Given the description of an element on the screen output the (x, y) to click on. 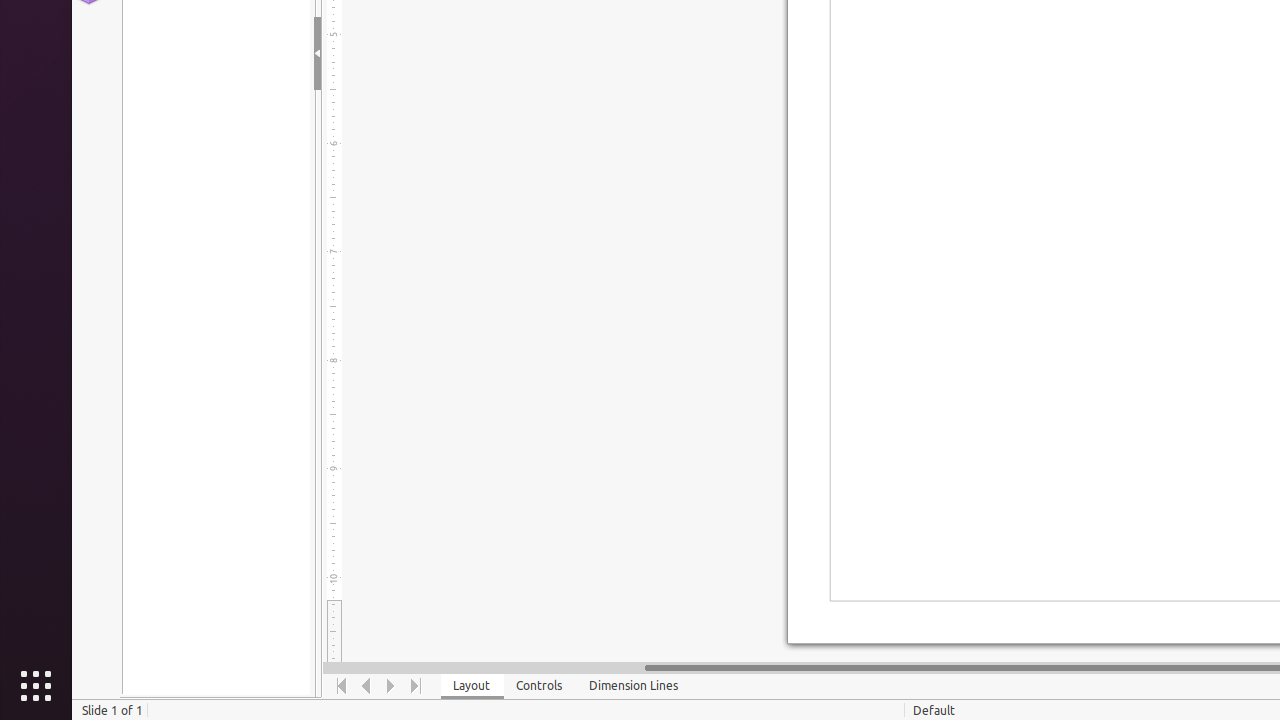
Move Right Element type: push-button (391, 686)
Move Left Element type: push-button (366, 686)
Controls Element type: page-tab (540, 686)
Move To End Element type: push-button (416, 686)
Layout Element type: page-tab (472, 686)
